Given the description of an element on the screen output the (x, y) to click on. 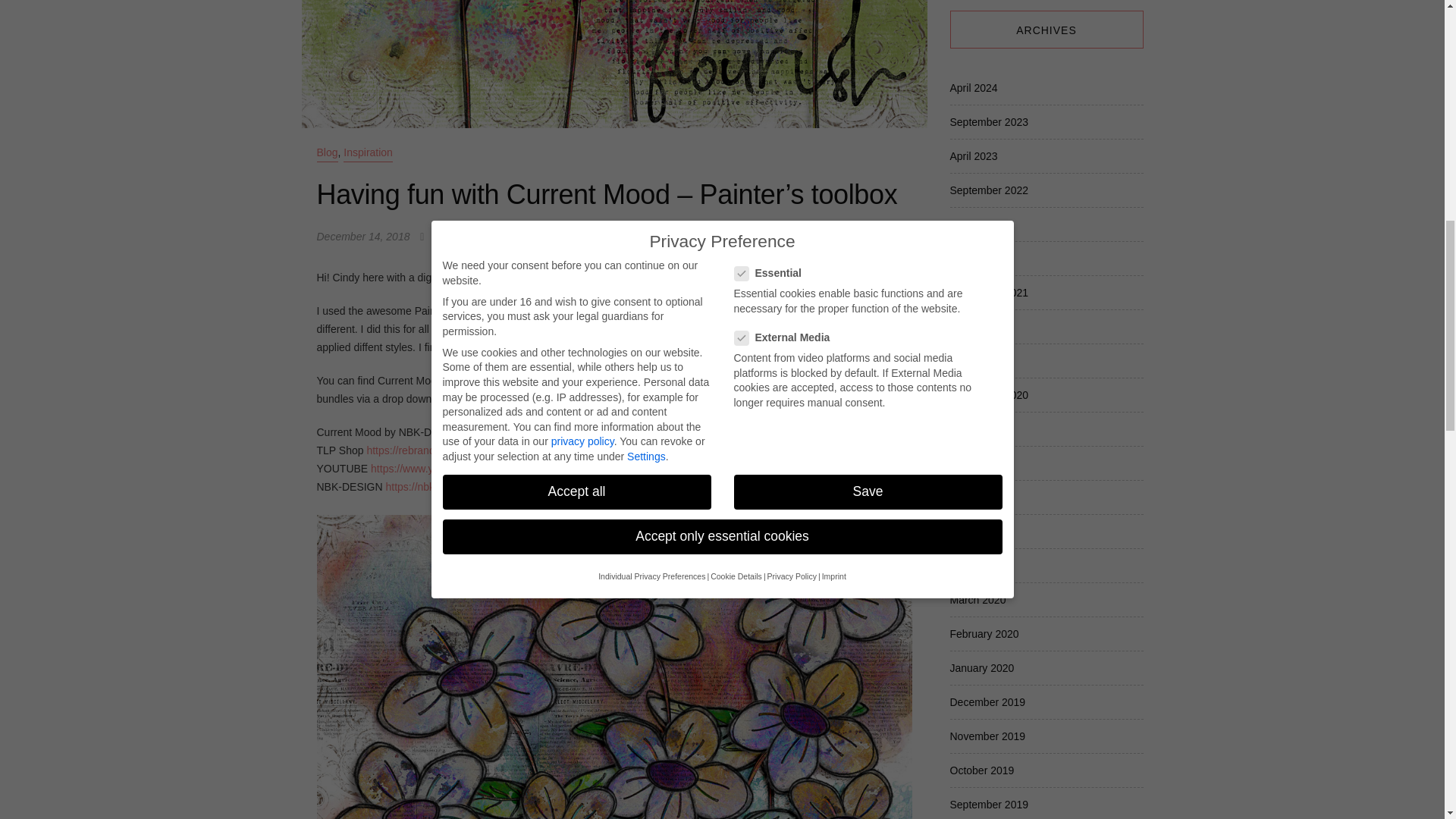
December 14, 2018 (363, 236)
Inspiration (368, 152)
Blog (327, 152)
